Given the description of an element on the screen output the (x, y) to click on. 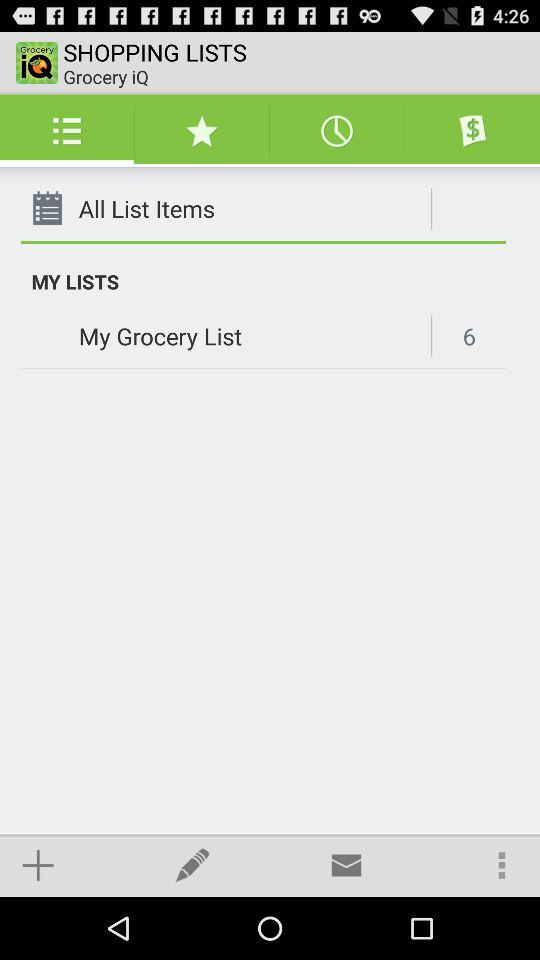
launch the item below my grocery list app (38, 864)
